Given the description of an element on the screen output the (x, y) to click on. 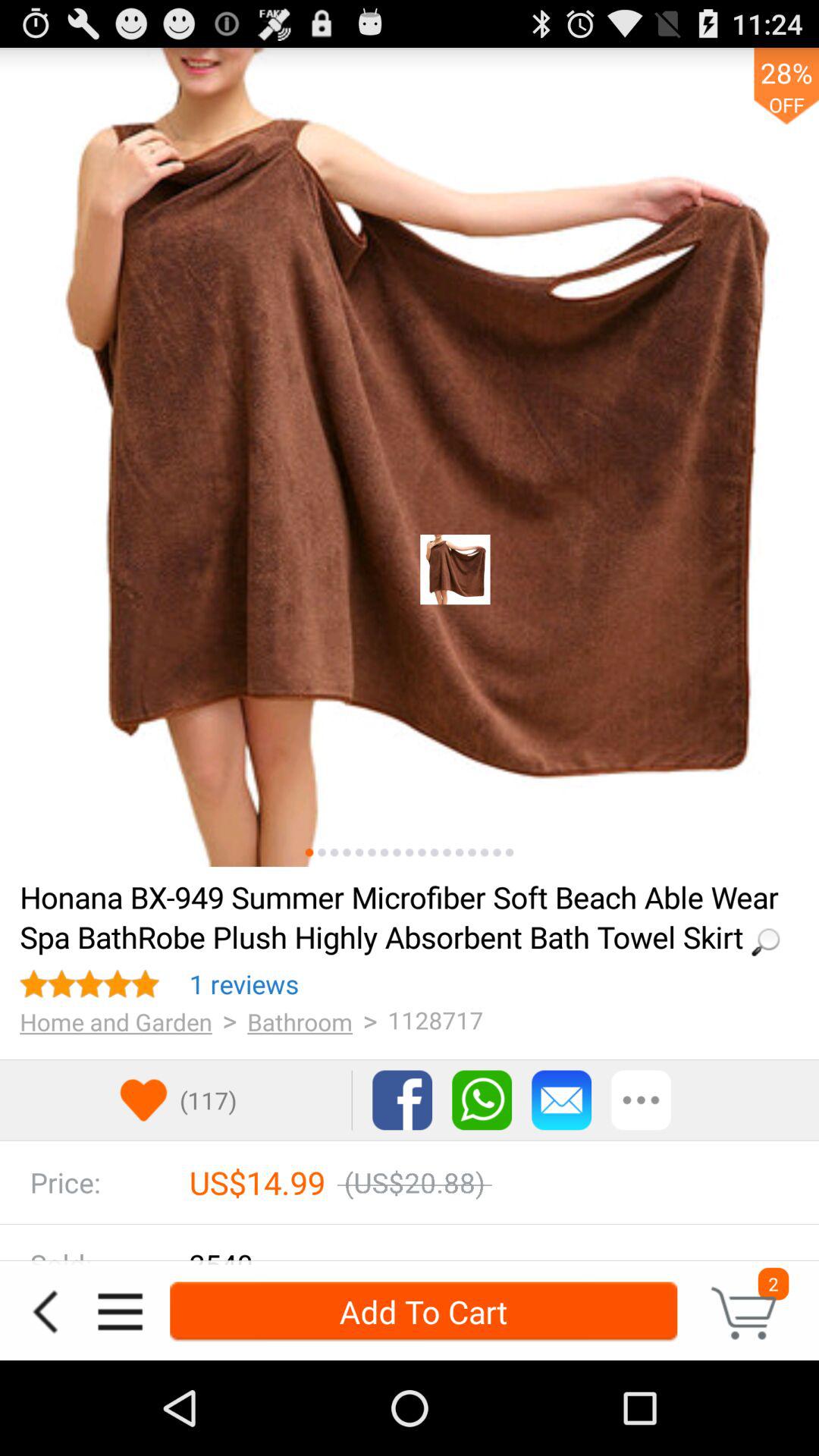
select next image (321, 852)
